Given the description of an element on the screen output the (x, y) to click on. 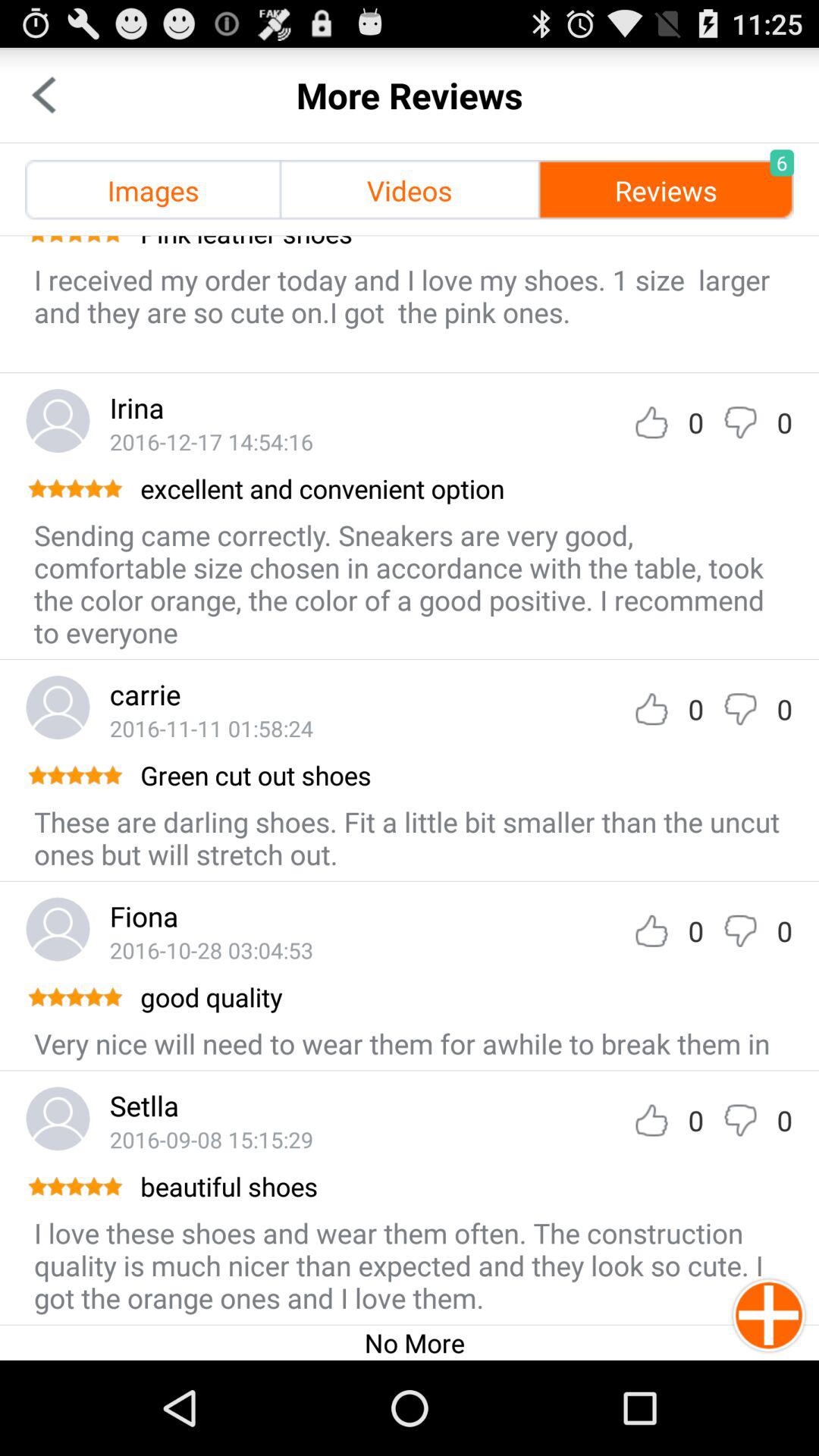
open the app below the 2016 11 11 icon (465, 774)
